Given the description of an element on the screen output the (x, y) to click on. 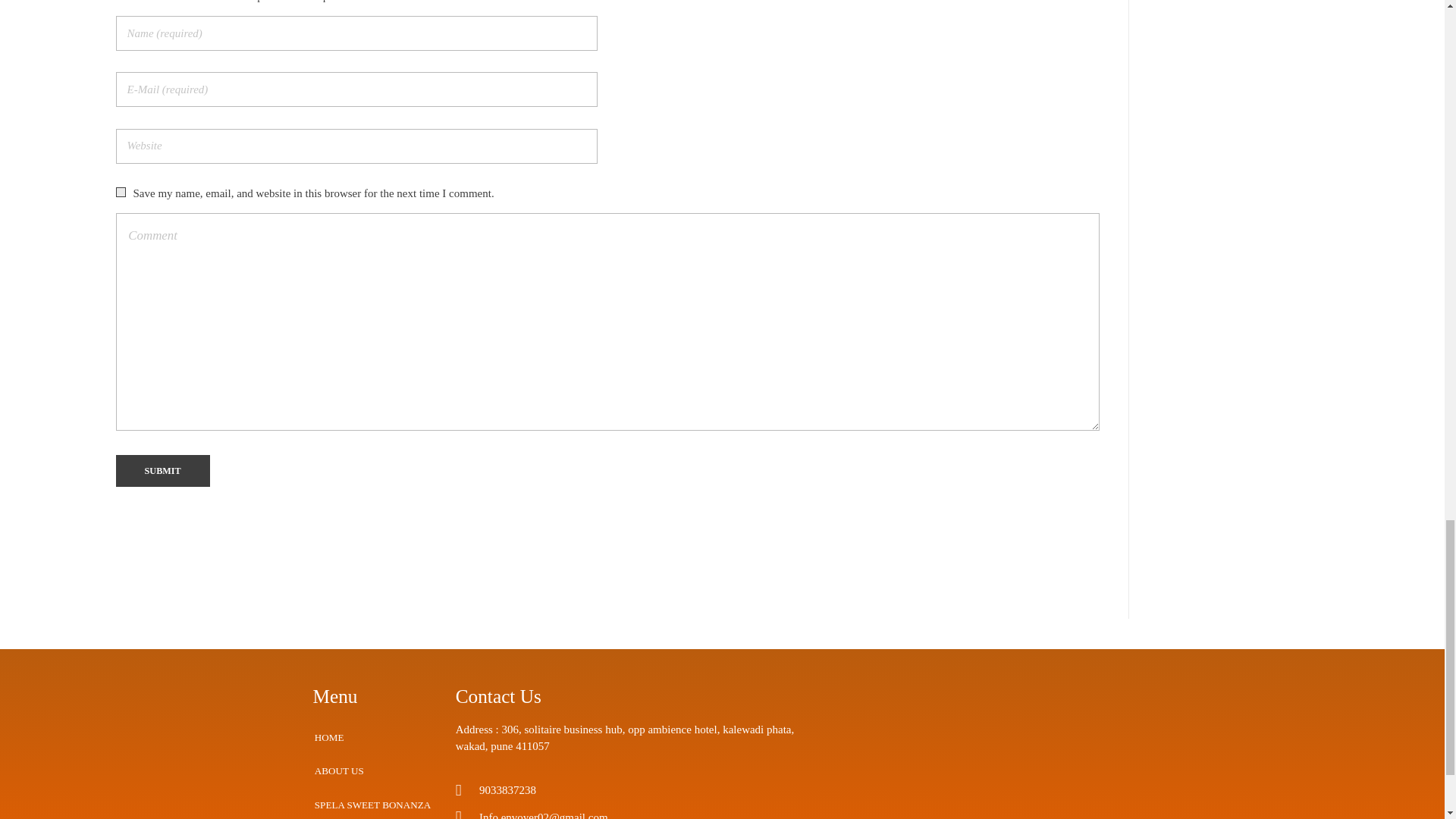
yes (120, 192)
Submit (162, 471)
Submit (162, 471)
